Given the description of an element on the screen output the (x, y) to click on. 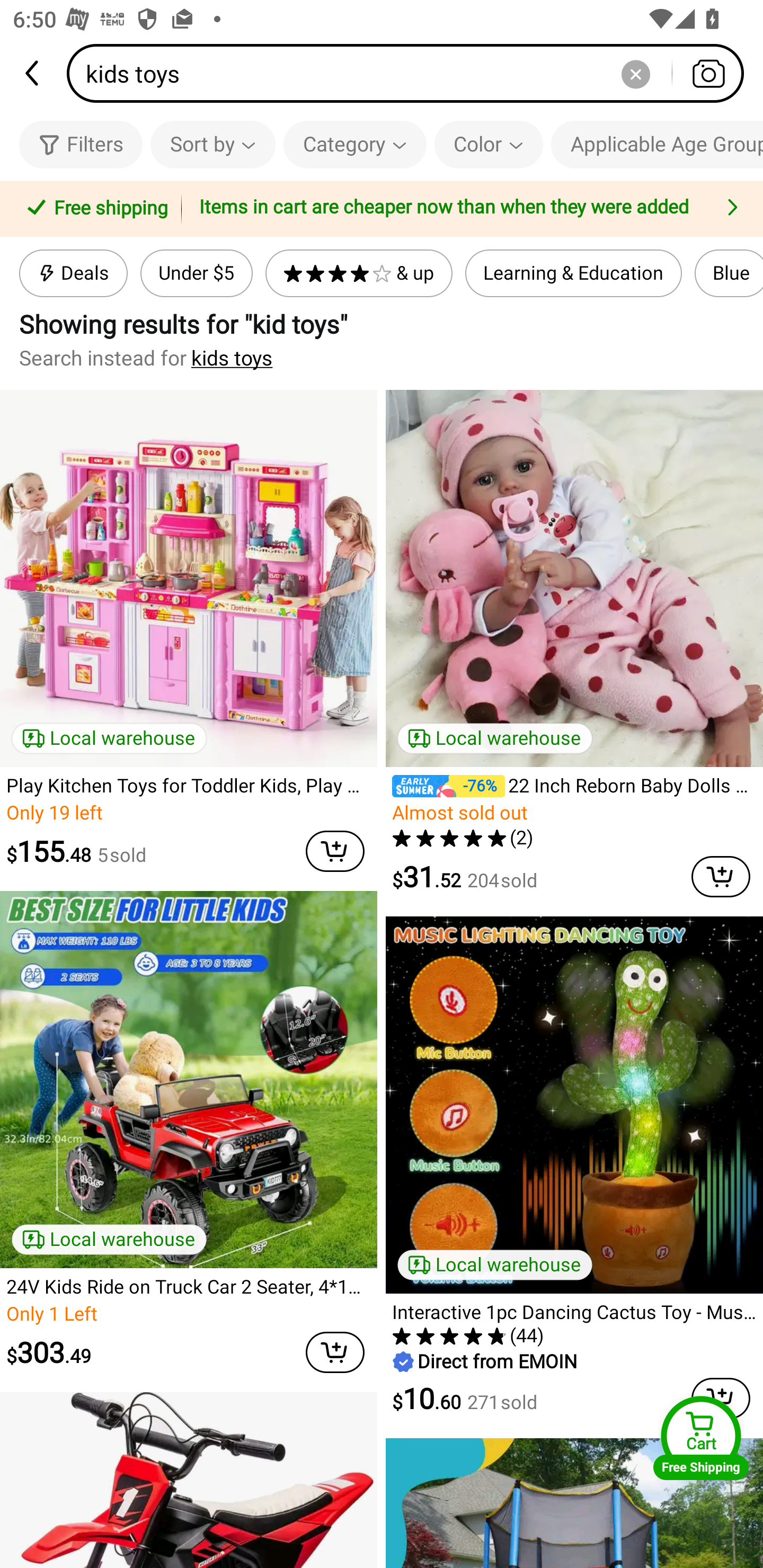
back (33, 72)
kids toys (411, 73)
Delete search history (635, 73)
Search by photo (708, 73)
Filters (80, 143)
Sort by (212, 143)
Category (354, 143)
Color (488, 143)
Applicable Age Group (656, 143)
 Free shipping (93, 208)
Deals (73, 273)
Under $5 (196, 273)
& up (358, 273)
Learning & Education (573, 273)
Blue (728, 273)
kids toys (232, 358)
cart delete (334, 851)
cart delete (720, 876)
cart delete (334, 1352)
Cart Free Shipping Cart (701, 1437)
